Given the description of an element on the screen output the (x, y) to click on. 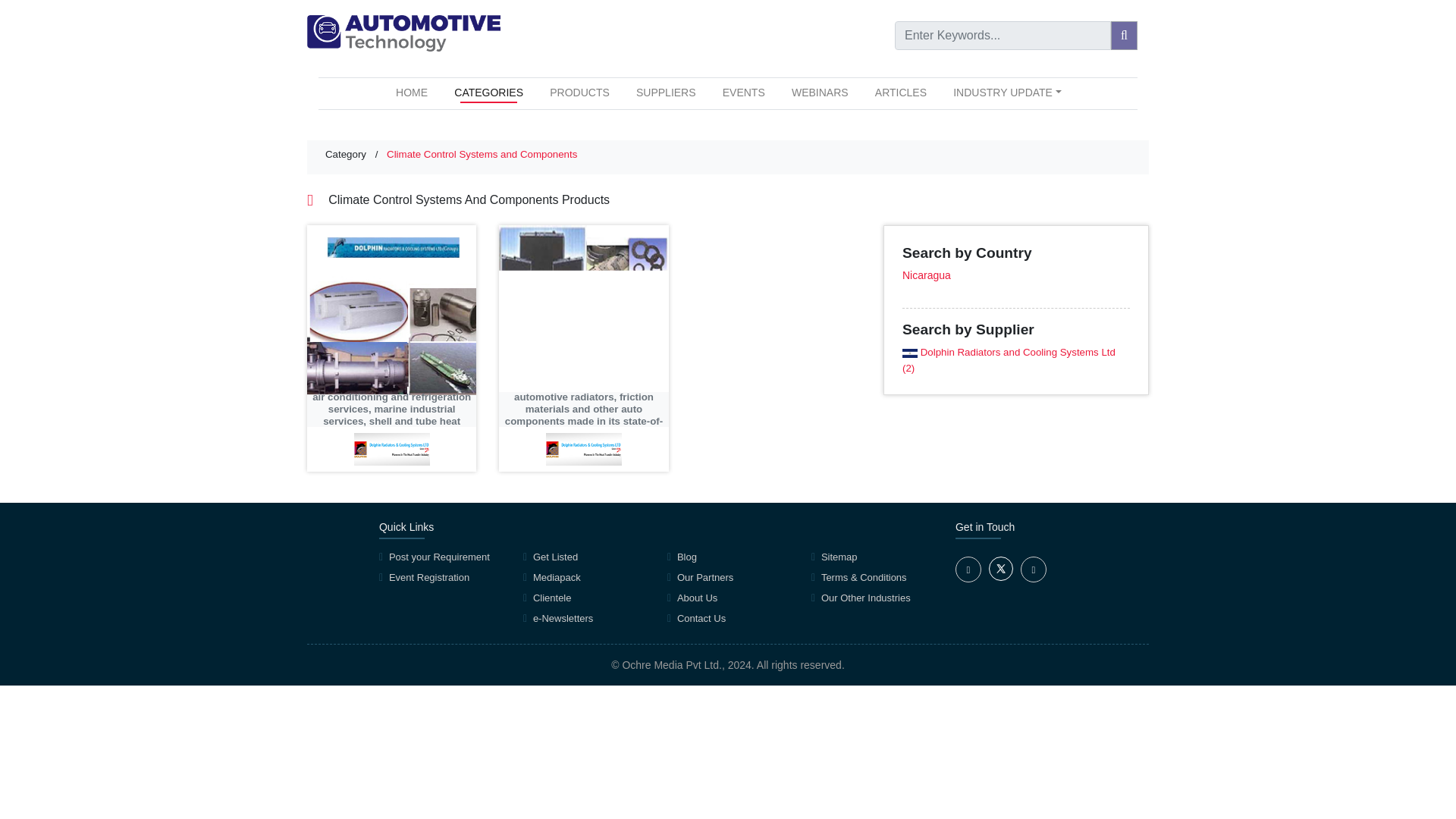
INDUSTRY UPDATE (1007, 92)
Sitemap (839, 556)
Contact Us (701, 618)
Blog (687, 556)
messages.sitename (403, 33)
Our Partners (705, 577)
WEBINARS (820, 92)
e-Newsletters (562, 618)
EVENTS (743, 92)
